Given the description of an element on the screen output the (x, y) to click on. 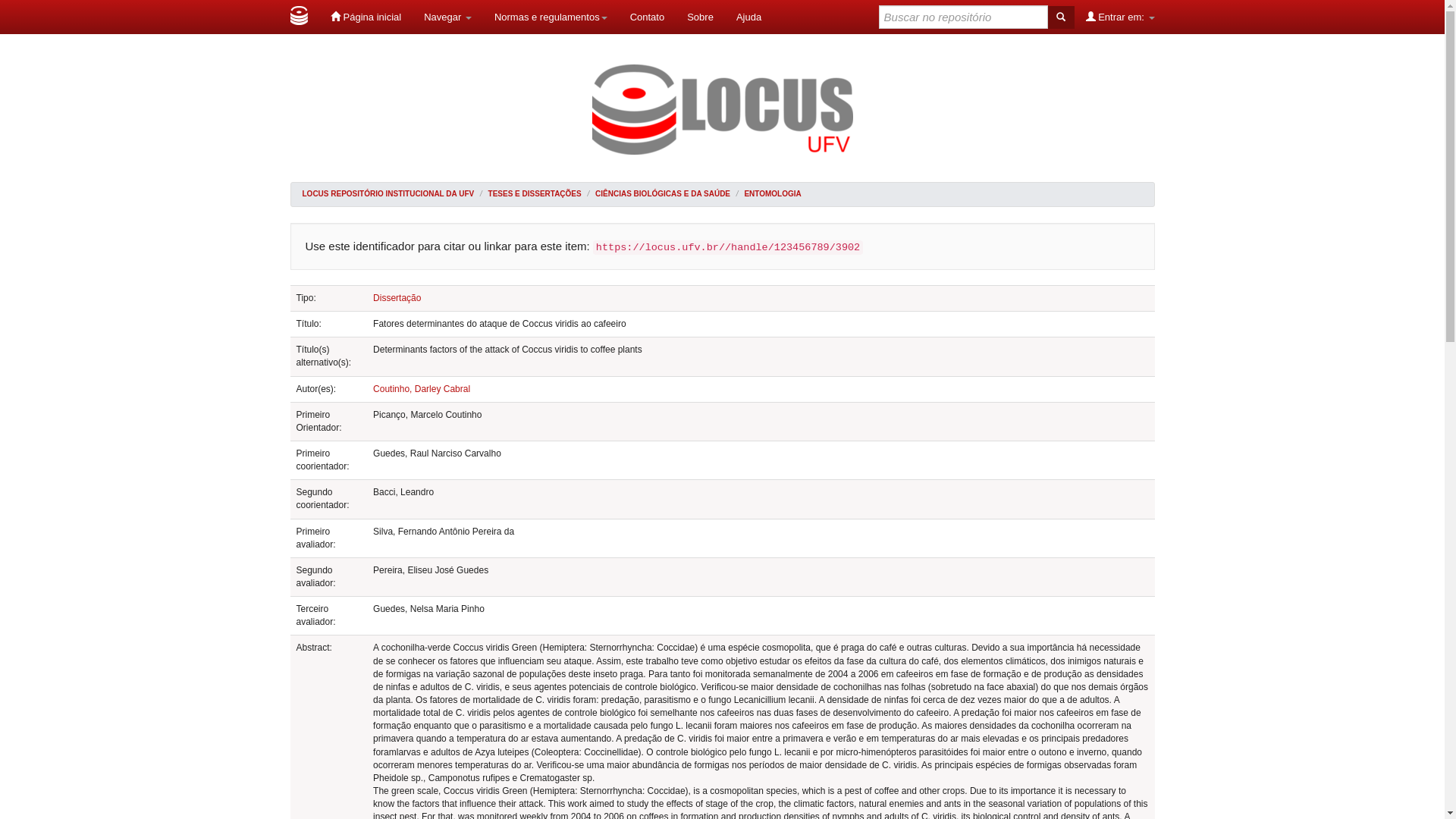
Contato Element type: text (647, 17)
Navegar Element type: text (447, 17)
Entrar em: Element type: text (1120, 17)
Ajuda Element type: text (748, 17)
Coutinho, Darley Cabral Element type: text (421, 388)
Normas e regulamentos Element type: text (550, 17)
Sobre Element type: text (699, 17)
ENTOMOLOGIA Element type: text (771, 193)
